Given the description of an element on the screen output the (x, y) to click on. 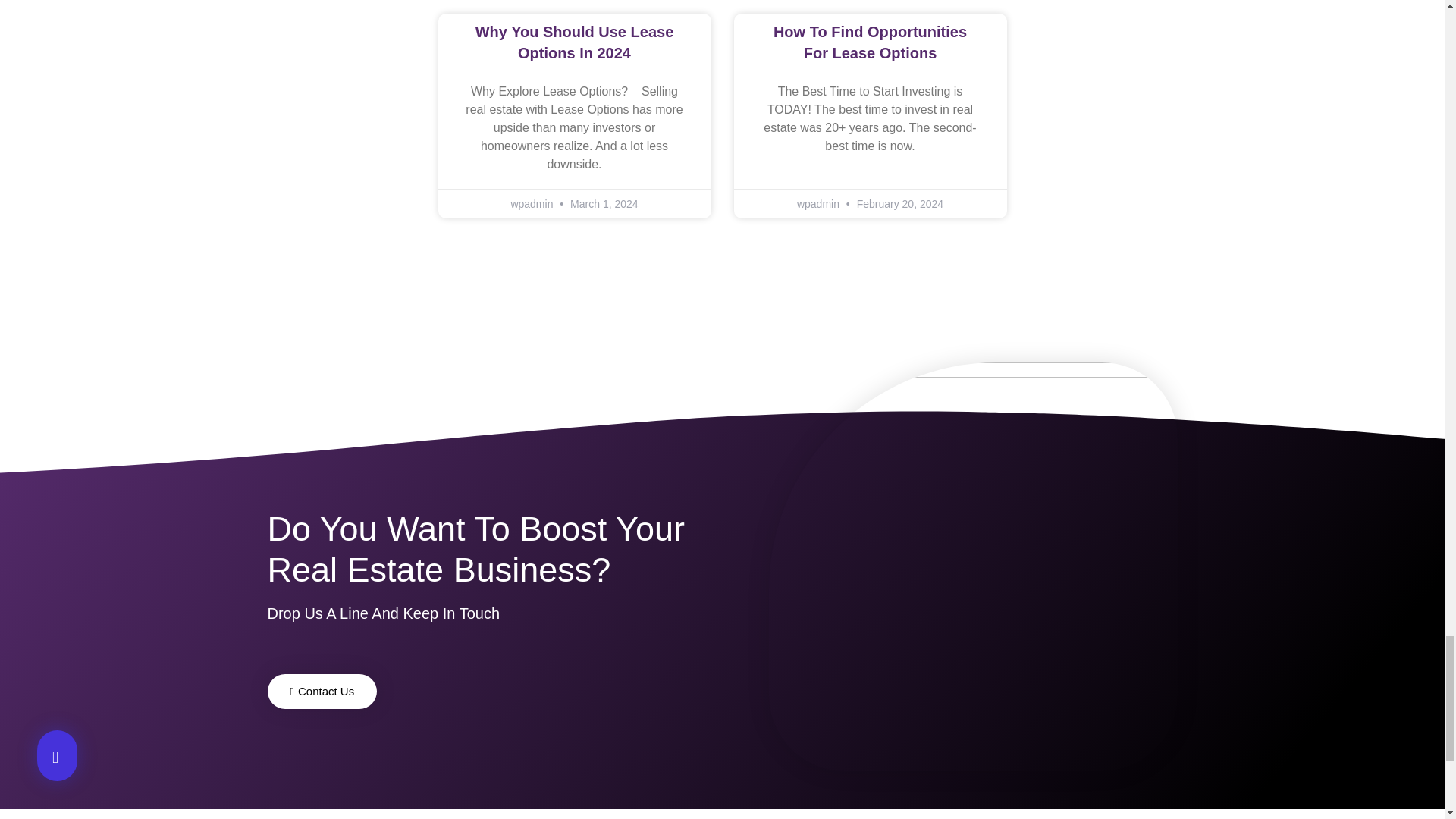
How To Find Opportunities For Lease Options (869, 42)
Contact Us (321, 691)
Why You Should Use Lease Options In 2024 (575, 42)
